Given the description of an element on the screen output the (x, y) to click on. 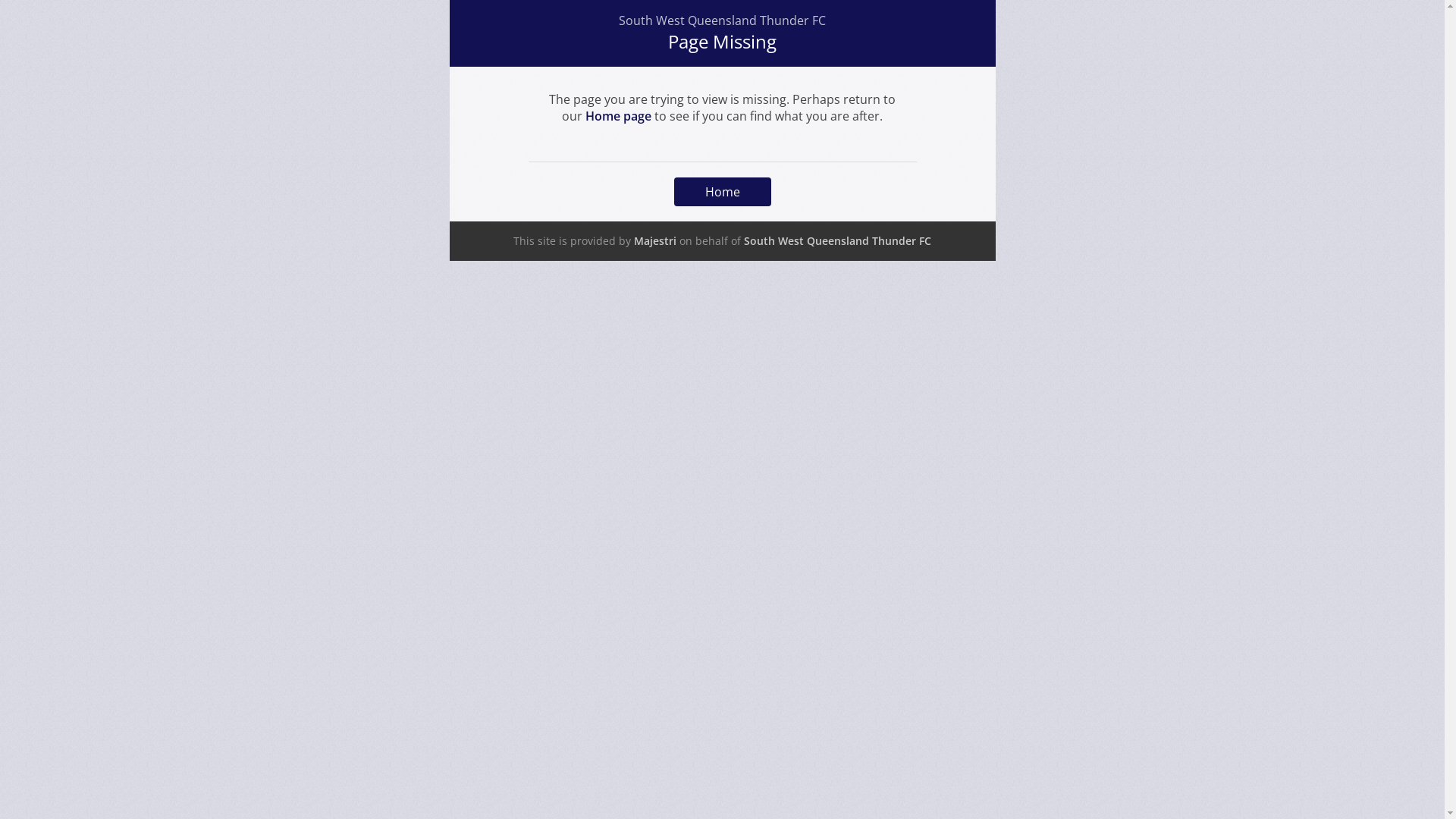
Home Element type: text (721, 191)
Majestri Element type: text (654, 240)
Home page Element type: text (618, 115)
South West Queensland Thunder FC Element type: text (837, 240)
